Given the description of an element on the screen output the (x, y) to click on. 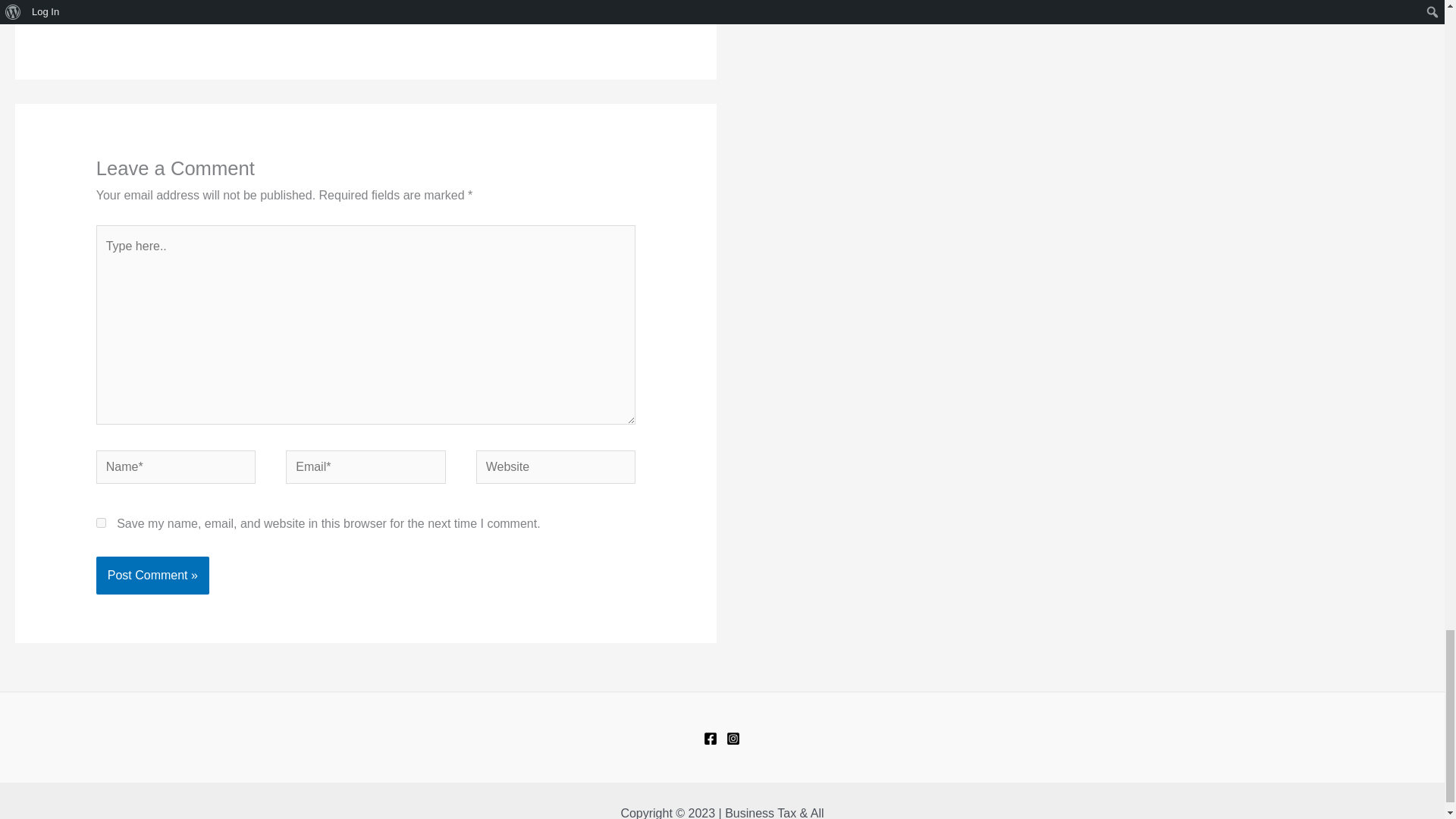
yes (101, 522)
